Given the description of an element on the screen output the (x, y) to click on. 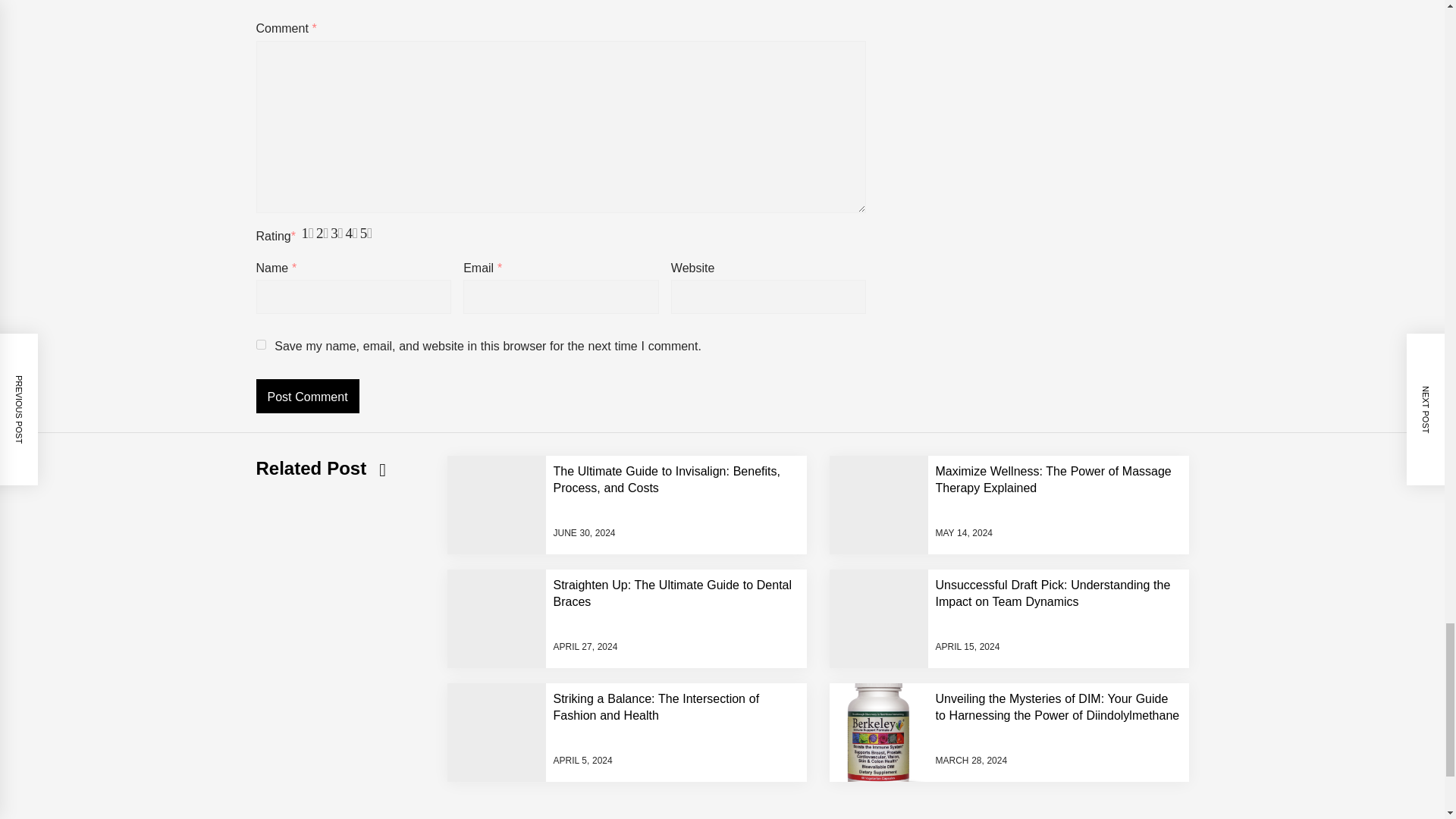
yes (261, 344)
Post Comment (307, 396)
